Given the description of an element on the screen output the (x, y) to click on. 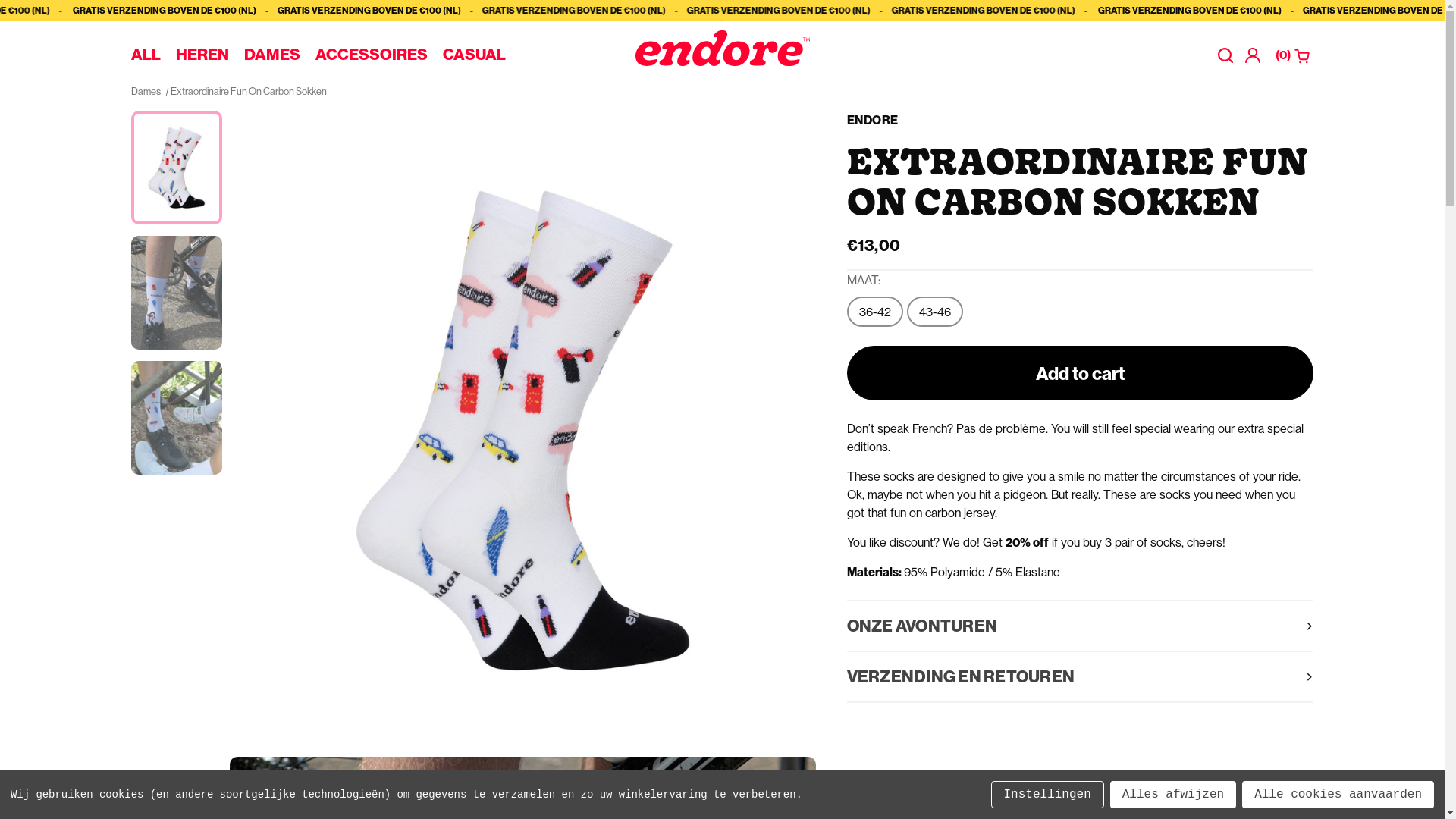
Extraordinaire Fun On Carbon Sokken Element type: hover (175, 292)
Add to cart Element type: text (1080, 372)
Extraordinaire Fun On Carbon Sokken Element type: hover (175, 417)
Extraordinaire Fun On Carbon Sokken Element type: hover (522, 429)
ALL Element type: text (145, 53)
ACCESSOIRES Element type: text (371, 53)
Alle cookies aanvaarden Element type: text (1338, 794)
Extraordinaire Fun On Carbon Sokken Element type: text (248, 90)
36-42 Element type: hover (850, 322)
CASUAL Element type: text (473, 53)
Alles afwijzen Element type: text (1173, 794)
Extraordinaire Fun On Carbon Sokken Element type: hover (175, 167)
DAMES Element type: text (272, 53)
Dames Element type: text (145, 90)
HEREN Element type: text (202, 53)
43-46 Element type: hover (910, 322)
Instellingen Element type: text (1047, 794)
